Given the description of an element on the screen output the (x, y) to click on. 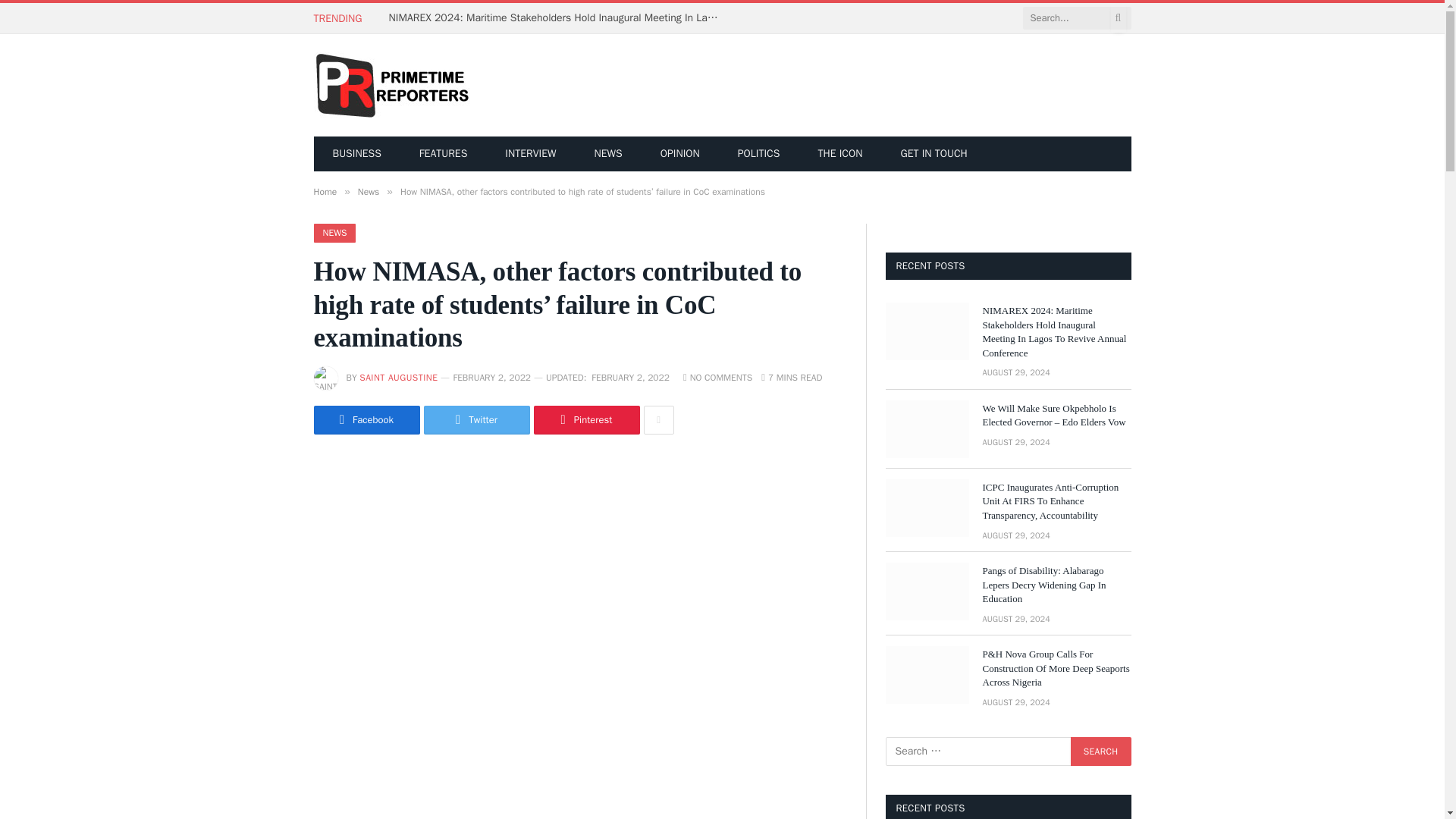
Share on Pinterest (587, 419)
Home (325, 191)
Show More Social Sharing (657, 419)
Search (1100, 751)
Prime Time Reporters (392, 85)
NEWS (607, 153)
OPINION (680, 153)
Share on Facebook (367, 419)
POLITICS (759, 153)
Twitter (476, 419)
